Given the description of an element on the screen output the (x, y) to click on. 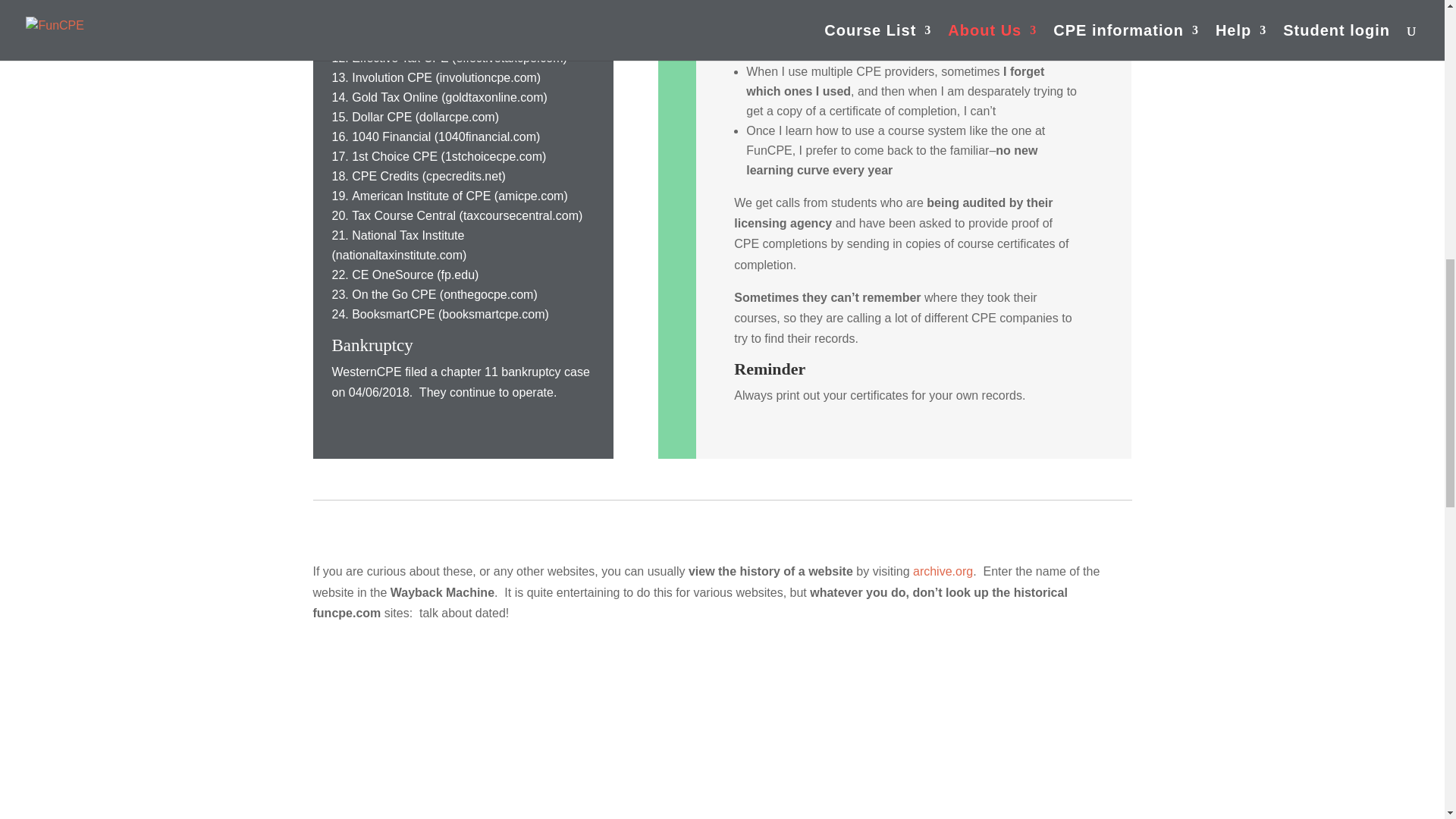
archive.org (942, 571)
